Given the description of an element on the screen output the (x, y) to click on. 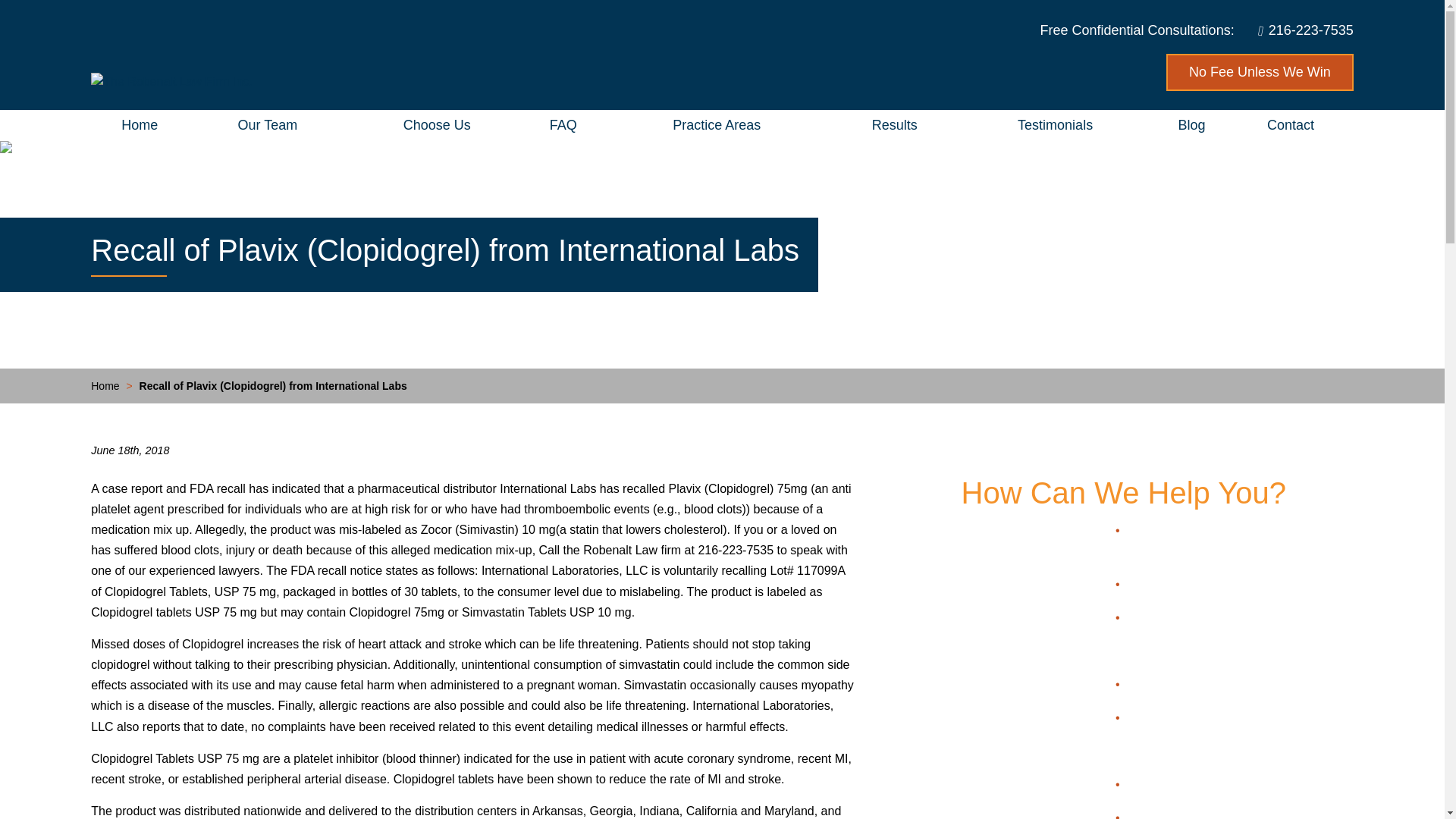
No Fee Unless We Win (1260, 72)
216-223-7535 (1311, 29)
